Given the description of an element on the screen output the (x, y) to click on. 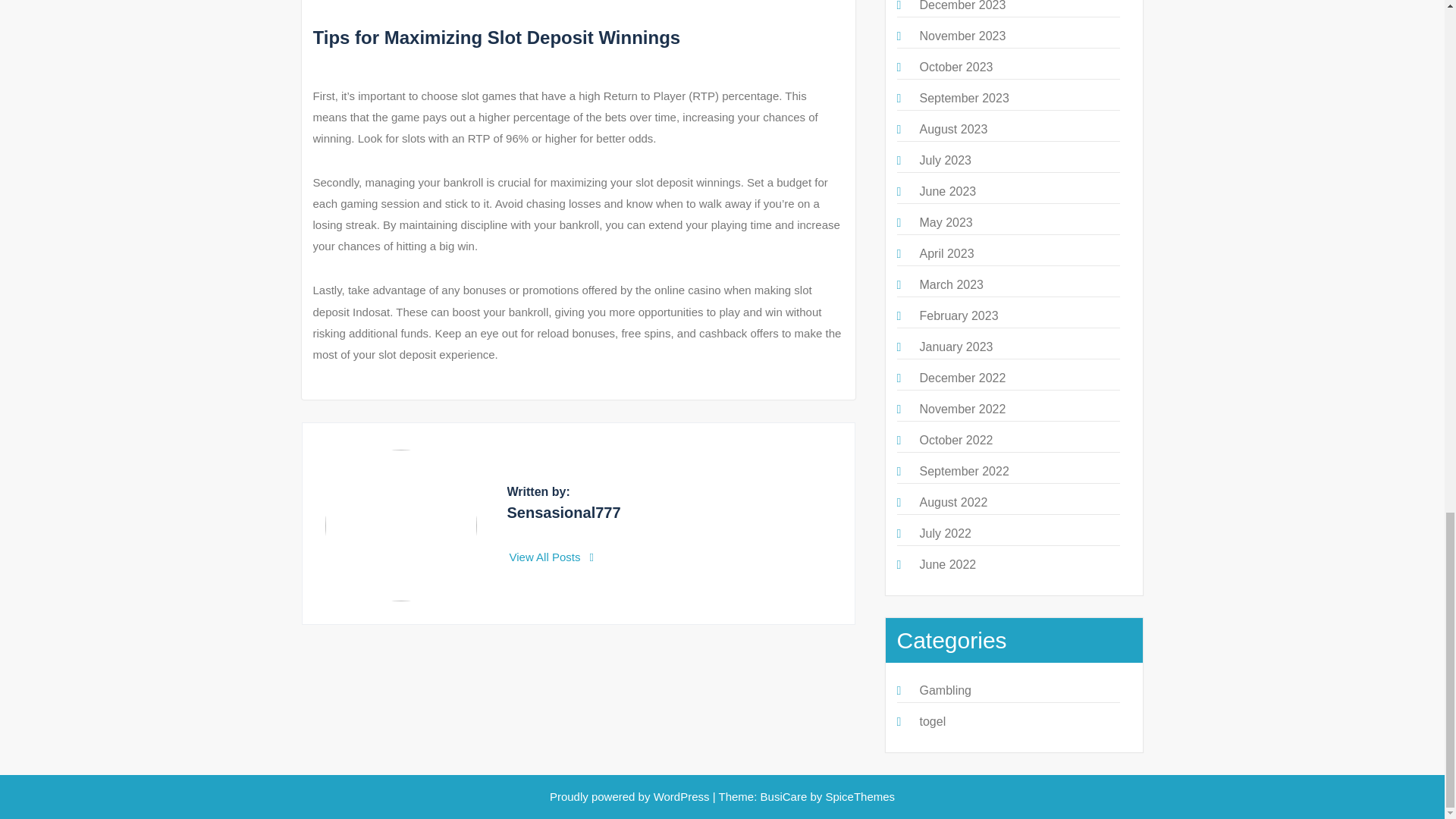
June 2023 (946, 191)
March 2023 (951, 284)
May 2023 (945, 222)
November 2023 (962, 35)
July 2023 (944, 160)
View All Posts (551, 556)
December 2022 (962, 377)
April 2023 (946, 253)
September 2023 (963, 97)
December 2023 (962, 5)
